Given the description of an element on the screen output the (x, y) to click on. 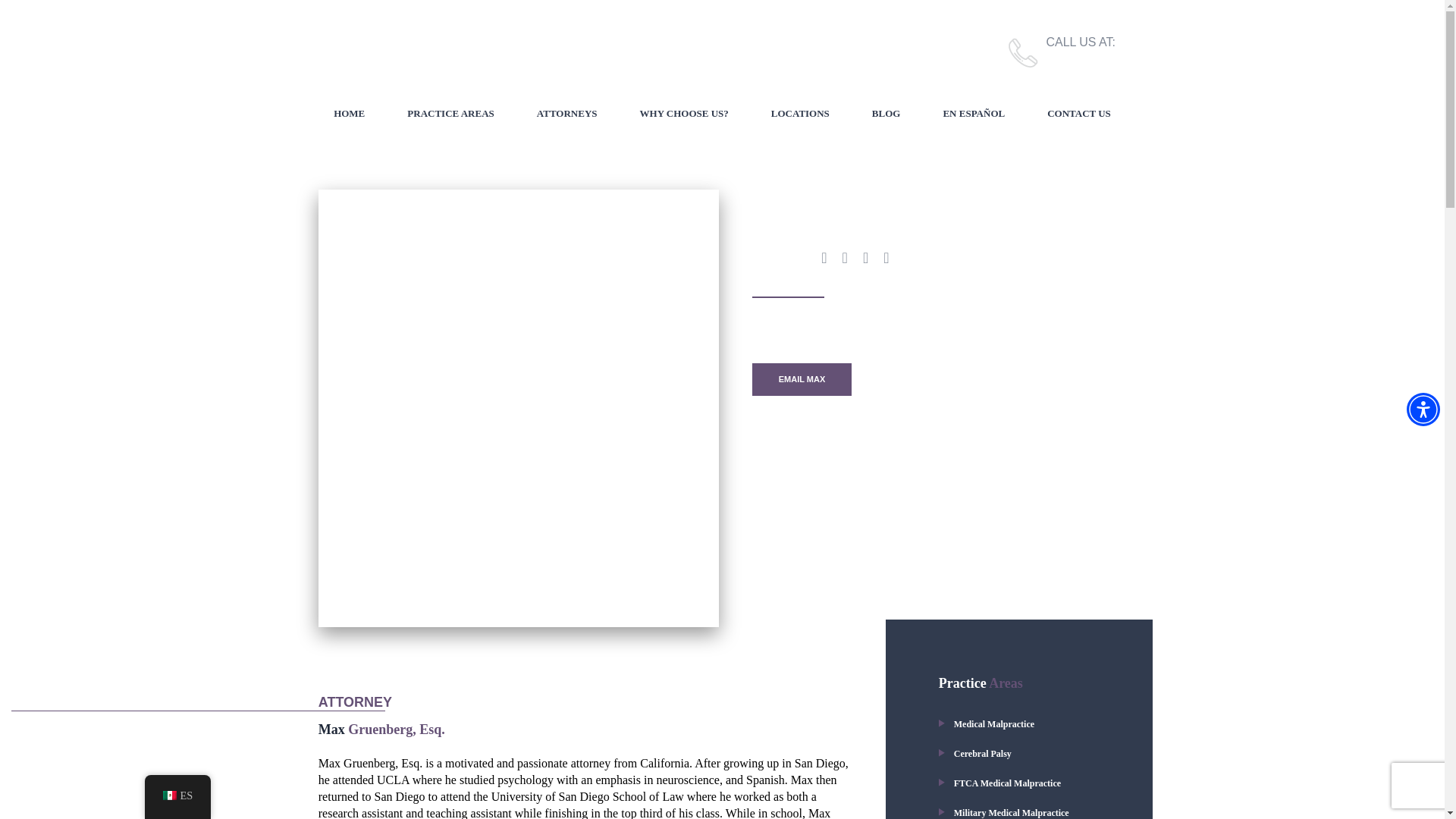
LOCATIONS (799, 113)
ATTORNEYS (566, 113)
BLOG (885, 113)
WHY CHOOSE US? (683, 113)
HOME (349, 113)
PRACTICE AREAS (450, 113)
Accessibility Menu (1422, 409)
